Given the description of an element on the screen output the (x, y) to click on. 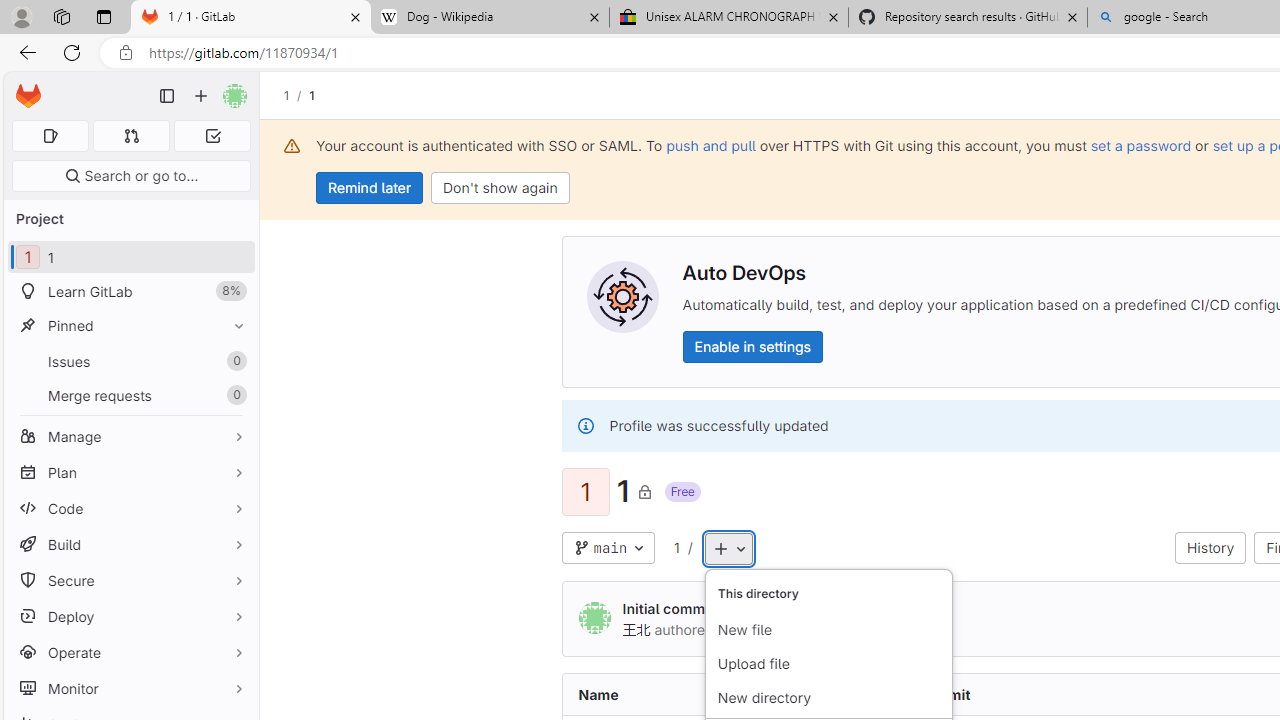
Last commit (1024, 694)
Plan (130, 471)
Unpin Issues (234, 361)
set a password (1140, 145)
Monitor (130, 687)
Operate (130, 651)
History (1209, 547)
Unpin Merge requests (234, 395)
Learn GitLab8% (130, 291)
Secure (130, 579)
